Given the description of an element on the screen output the (x, y) to click on. 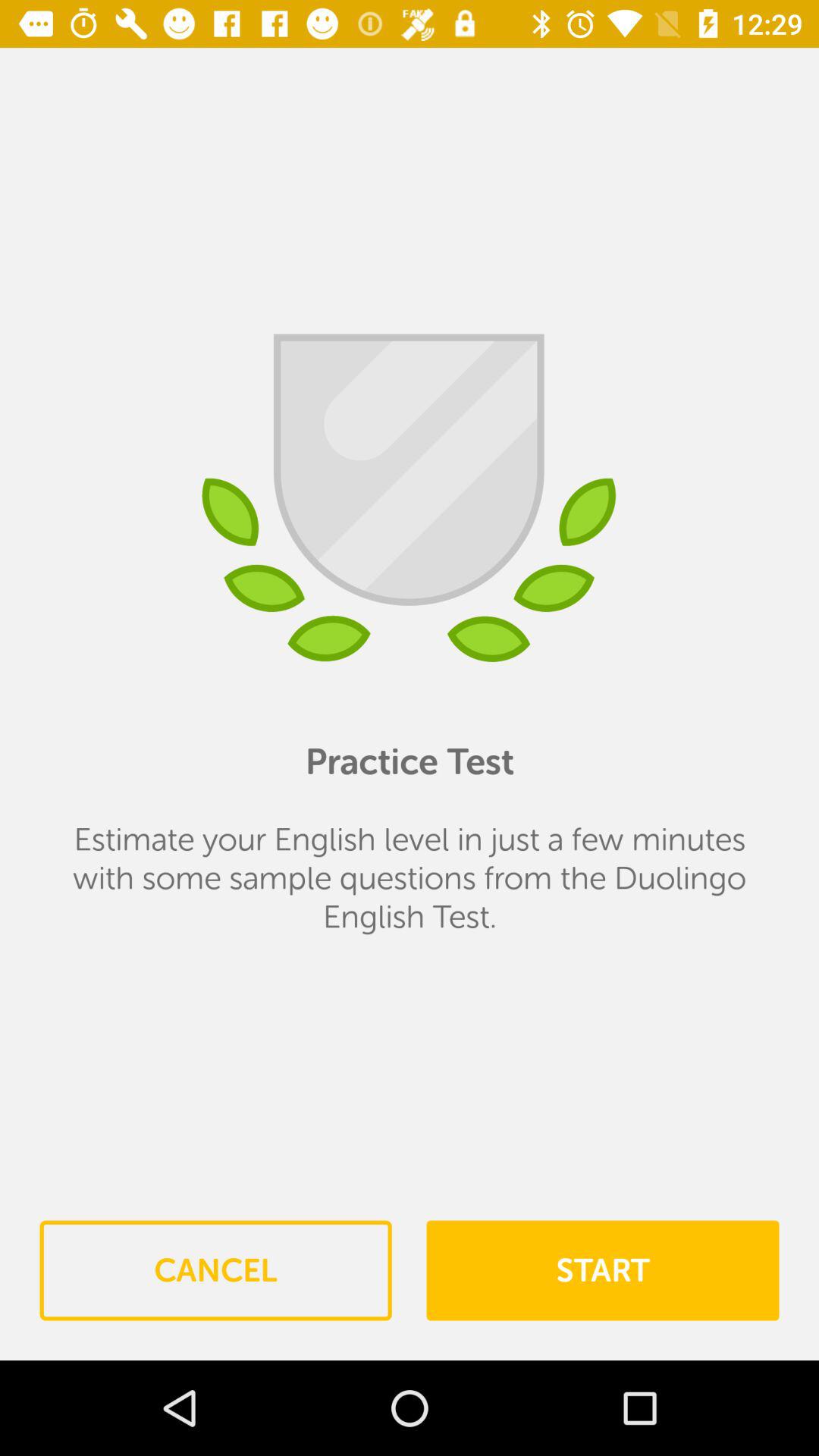
click item next to the start (215, 1270)
